Given the description of an element on the screen output the (x, y) to click on. 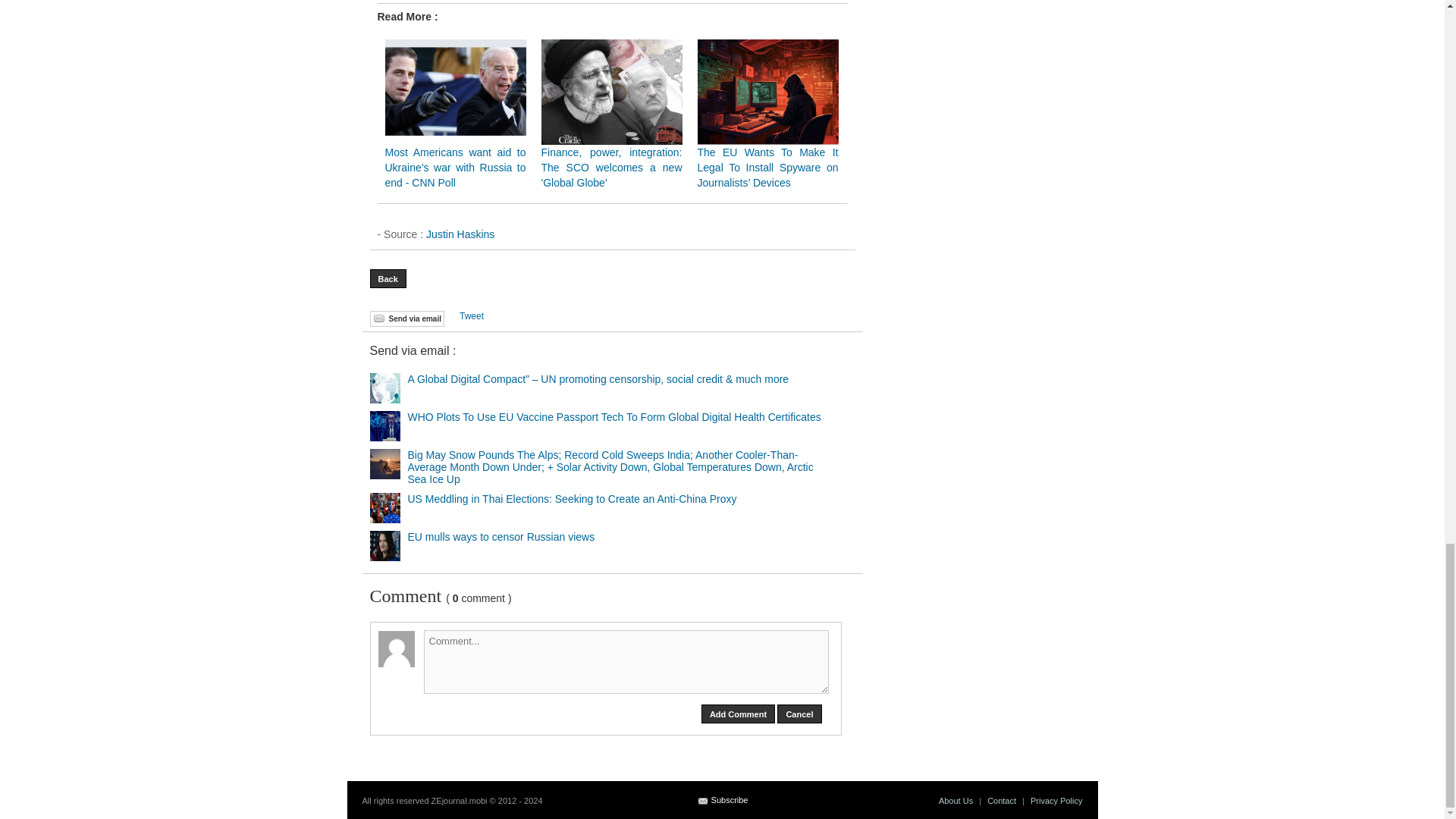
Back (387, 278)
Tweet (471, 316)
Add Comment (737, 713)
Justin Haskins (460, 234)
Send via email (406, 318)
